Given the description of an element on the screen output the (x, y) to click on. 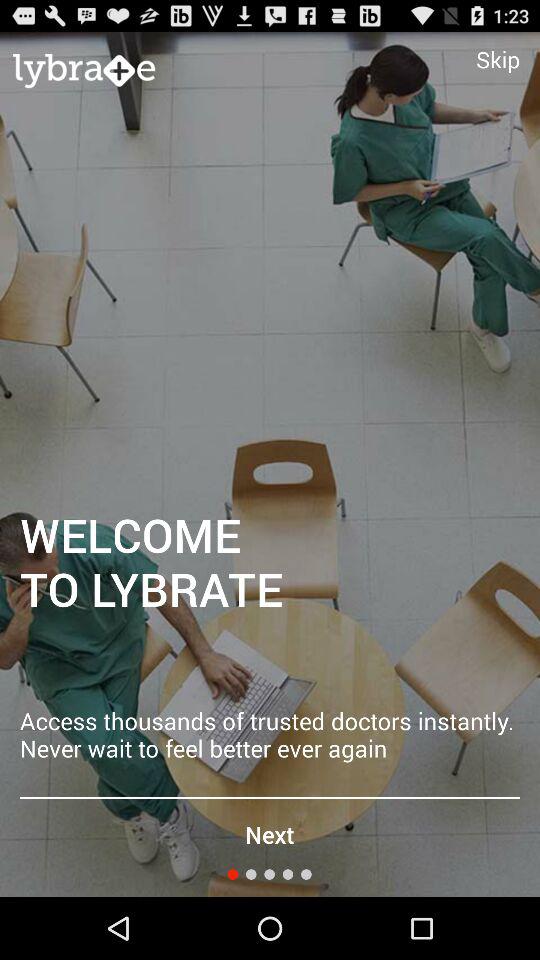
turn on icon at the top right corner (498, 59)
